Given the description of an element on the screen output the (x, y) to click on. 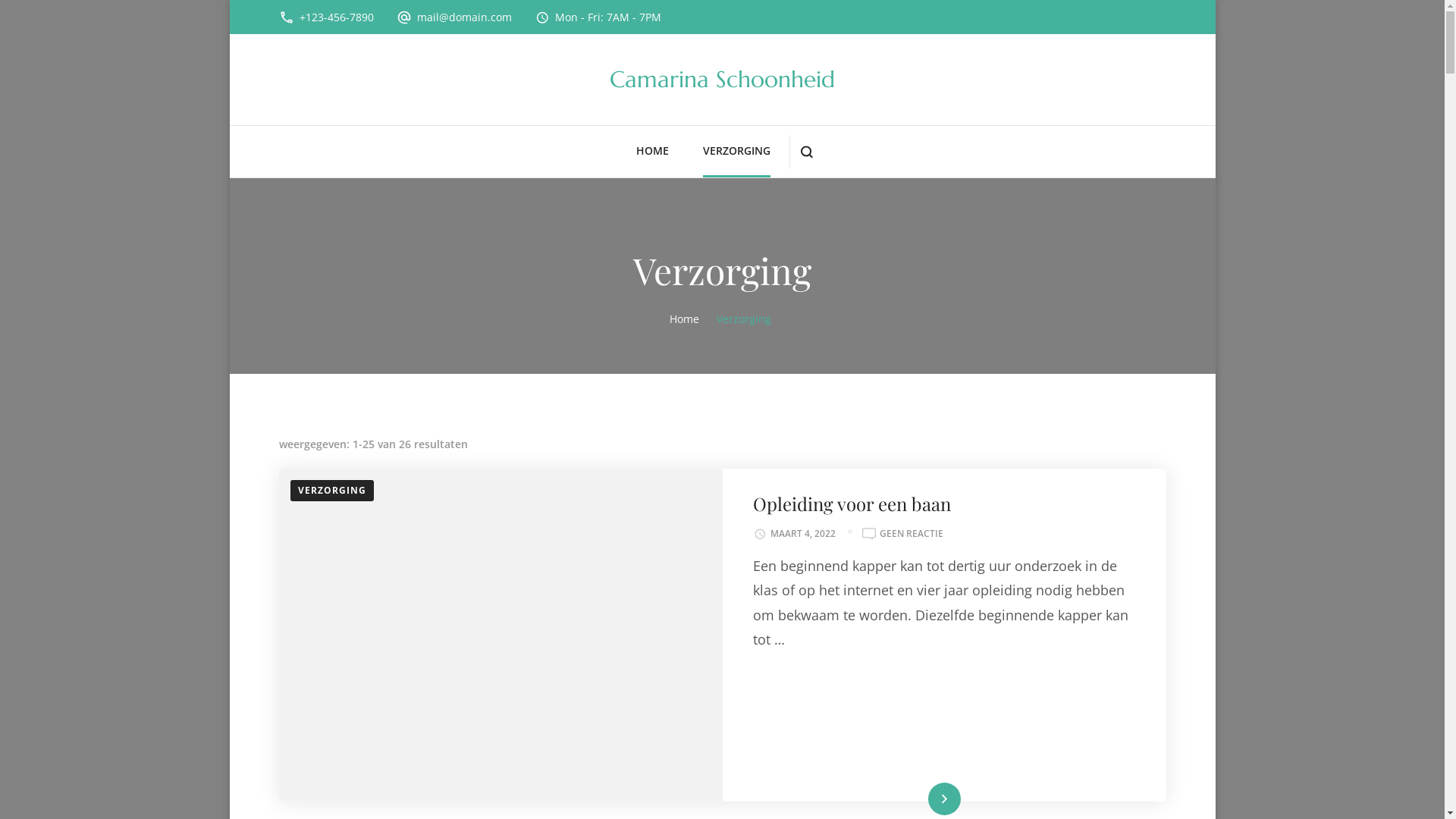
VERZORGING Element type: text (736, 151)
VERZORGING Element type: text (331, 490)
Home Element type: text (684, 318)
HOME Element type: text (652, 151)
Opleiding voor een baan Element type: text (851, 503)
Camarina Schoonheid Element type: text (721, 79)
GEEN REACTIE
OP OPLEIDING VOOR EEN BAAN Element type: text (911, 533)
Verzorging Element type: text (743, 318)
Lees meer Element type: text (944, 799)
+123-456-7890 Element type: text (335, 16)
MAART 4, 2022 Element type: text (802, 533)
mail@domain.com Element type: text (464, 16)
